Given the description of an element on the screen output the (x, y) to click on. 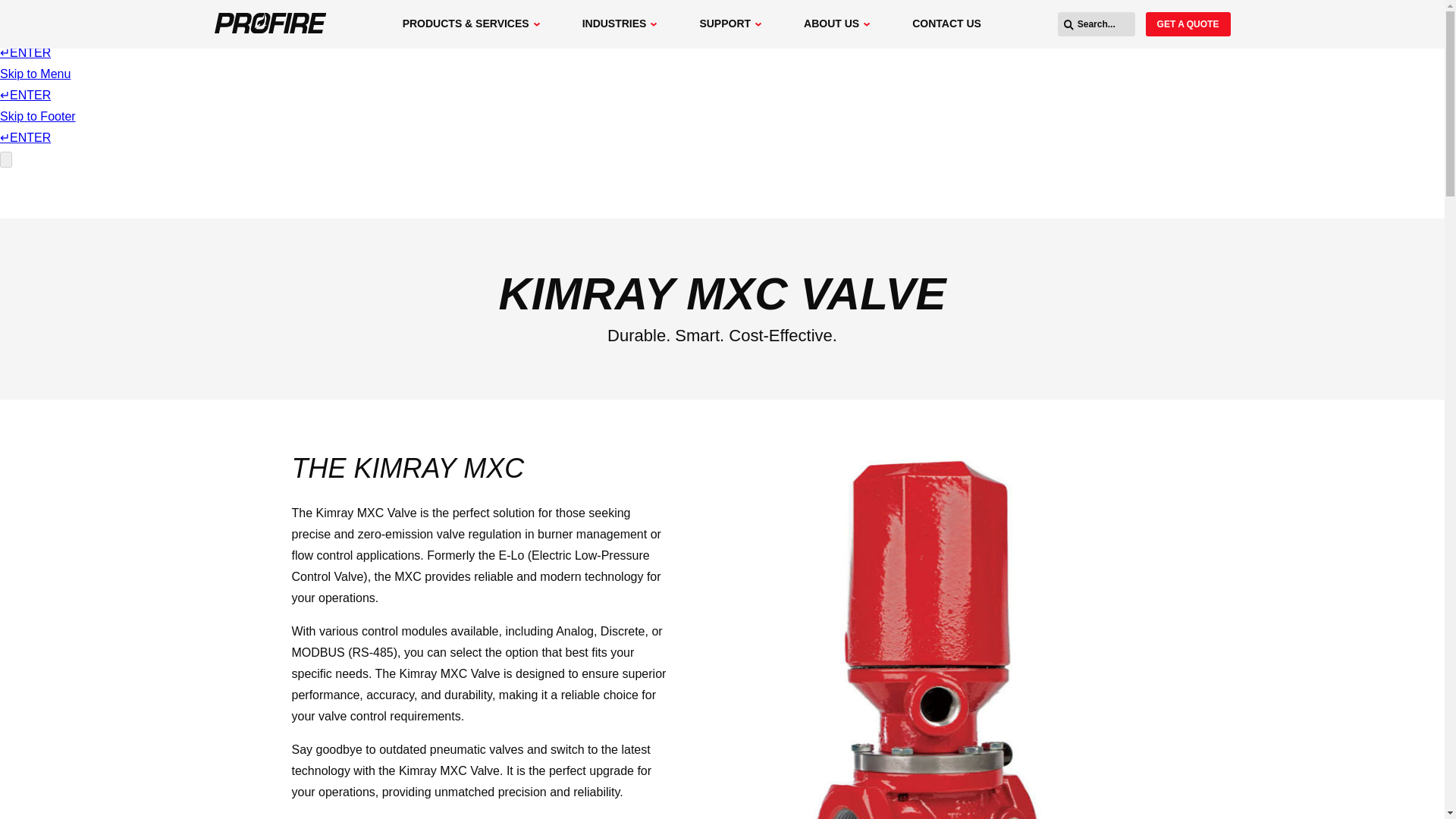
INDUSTRIES (619, 24)
SUPPORT (730, 24)
Search (1187, 24)
